Given the description of an element on the screen output the (x, y) to click on. 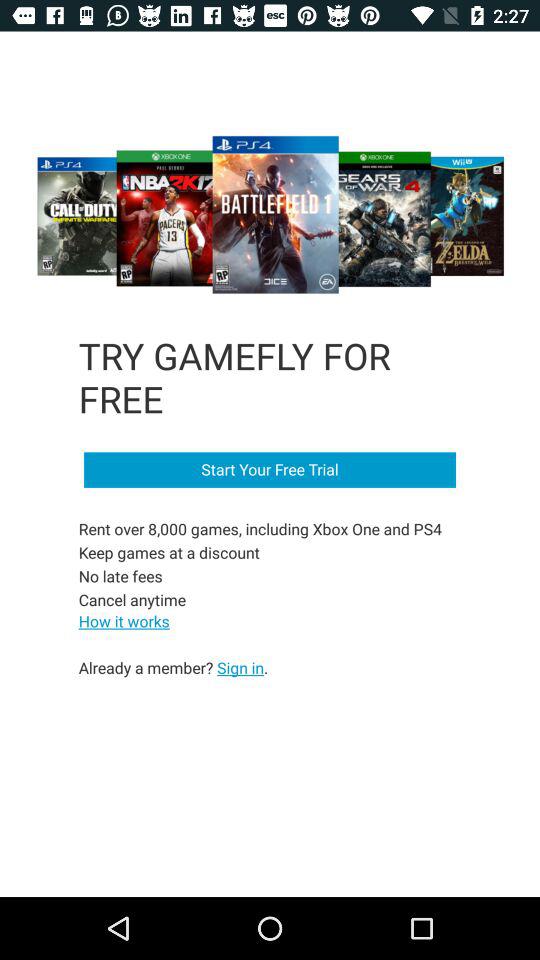
turn on the how it works item (123, 620)
